Given the description of an element on the screen output the (x, y) to click on. 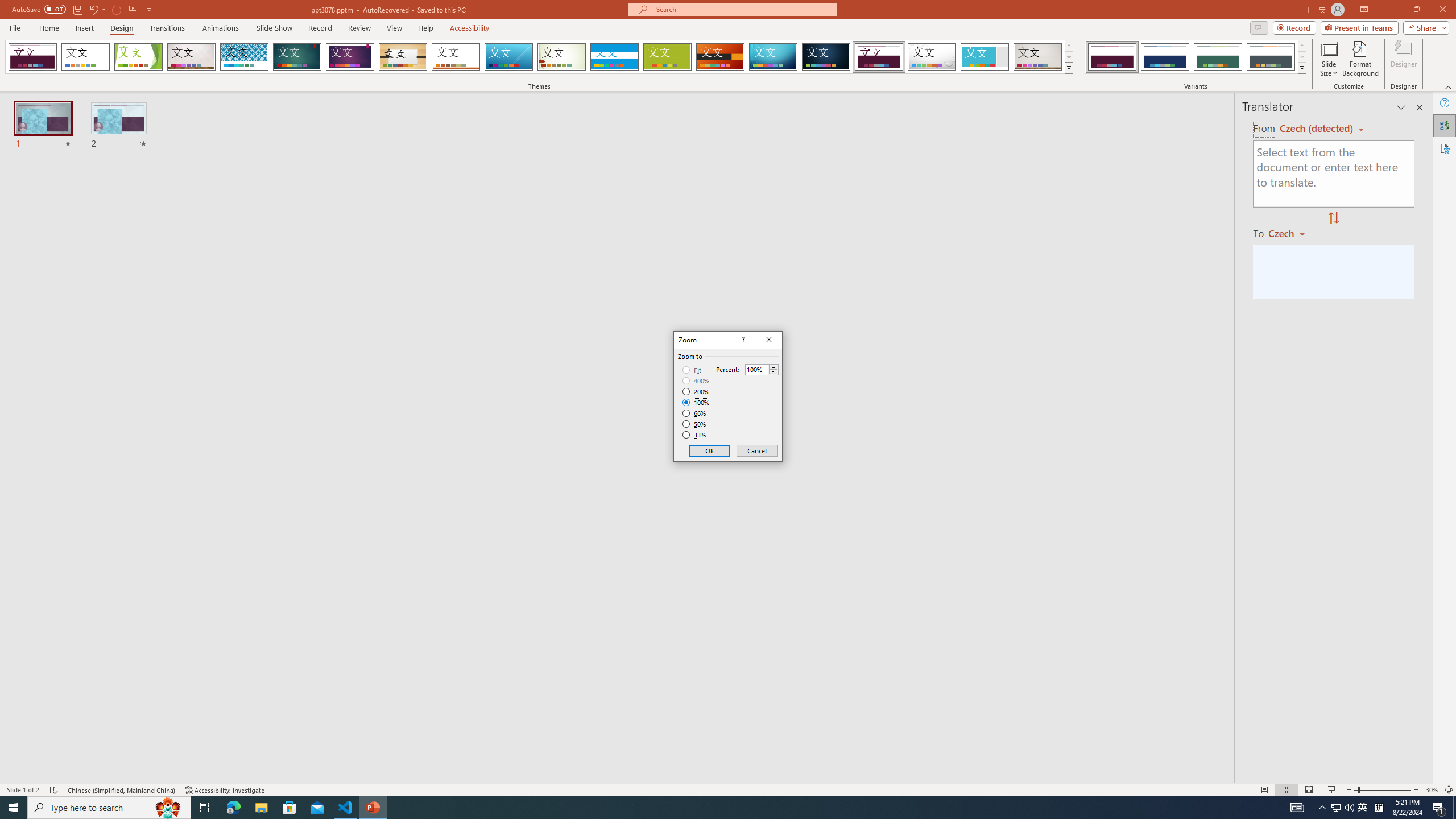
OK (709, 450)
Record (1294, 27)
Wisp (561, 56)
Accessibility Checker Accessibility: Investigate (224, 790)
Notification Chevron (1322, 807)
Search highlights icon opens search home window (167, 807)
Start (13, 807)
Undo (96, 9)
Facet (138, 56)
Record (320, 28)
PowerPoint - 1 running window (373, 807)
Class: MsoCommandBar (728, 789)
File Tab (15, 27)
